Given the description of an element on the screen output the (x, y) to click on. 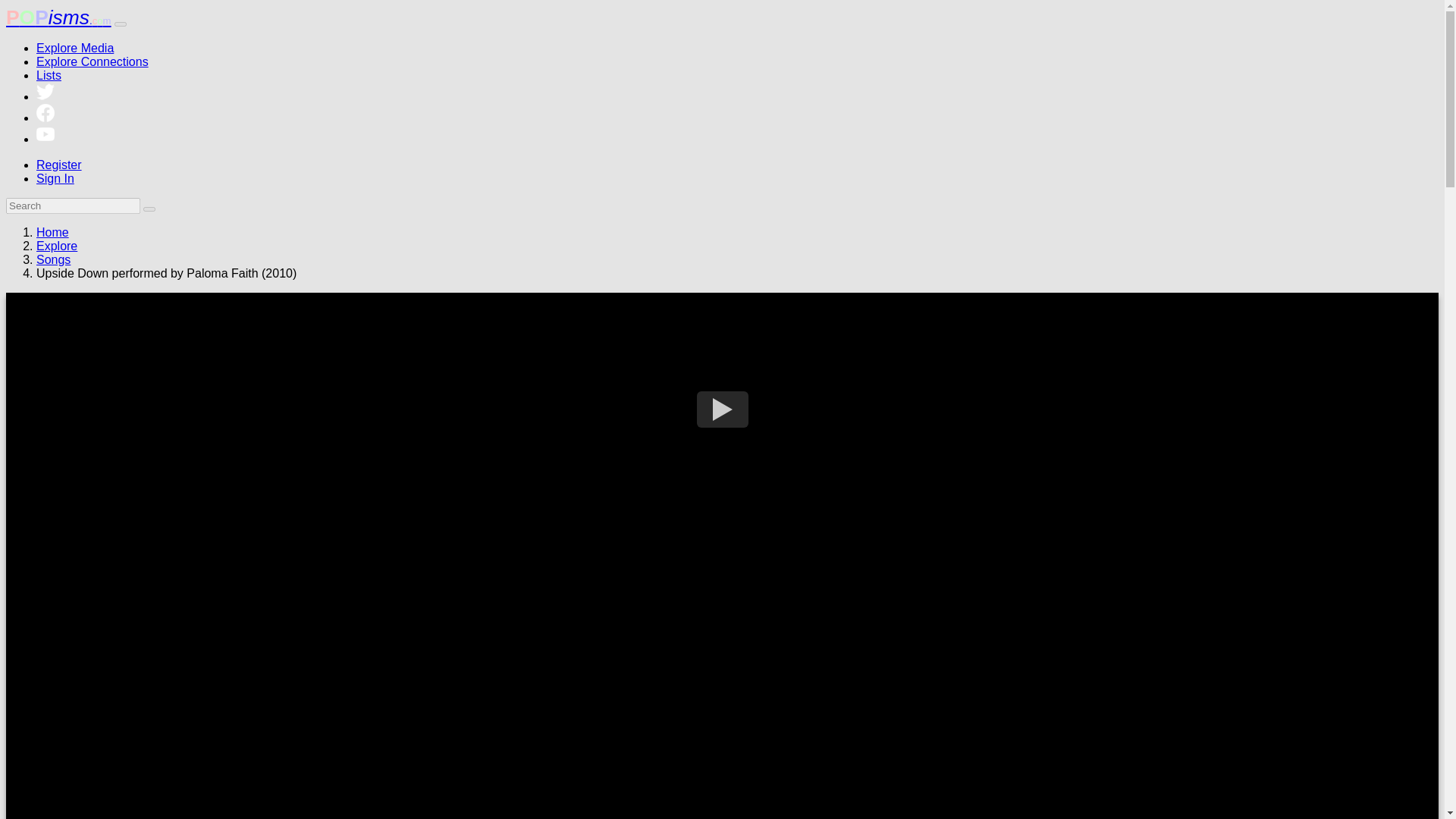
POPisms.com (58, 16)
Explore Media (74, 47)
Sign In (55, 178)
Explore (56, 245)
Songs (52, 259)
Lists (48, 74)
Register (58, 164)
Home (52, 232)
Explore Connections (92, 61)
